Given the description of an element on the screen output the (x, y) to click on. 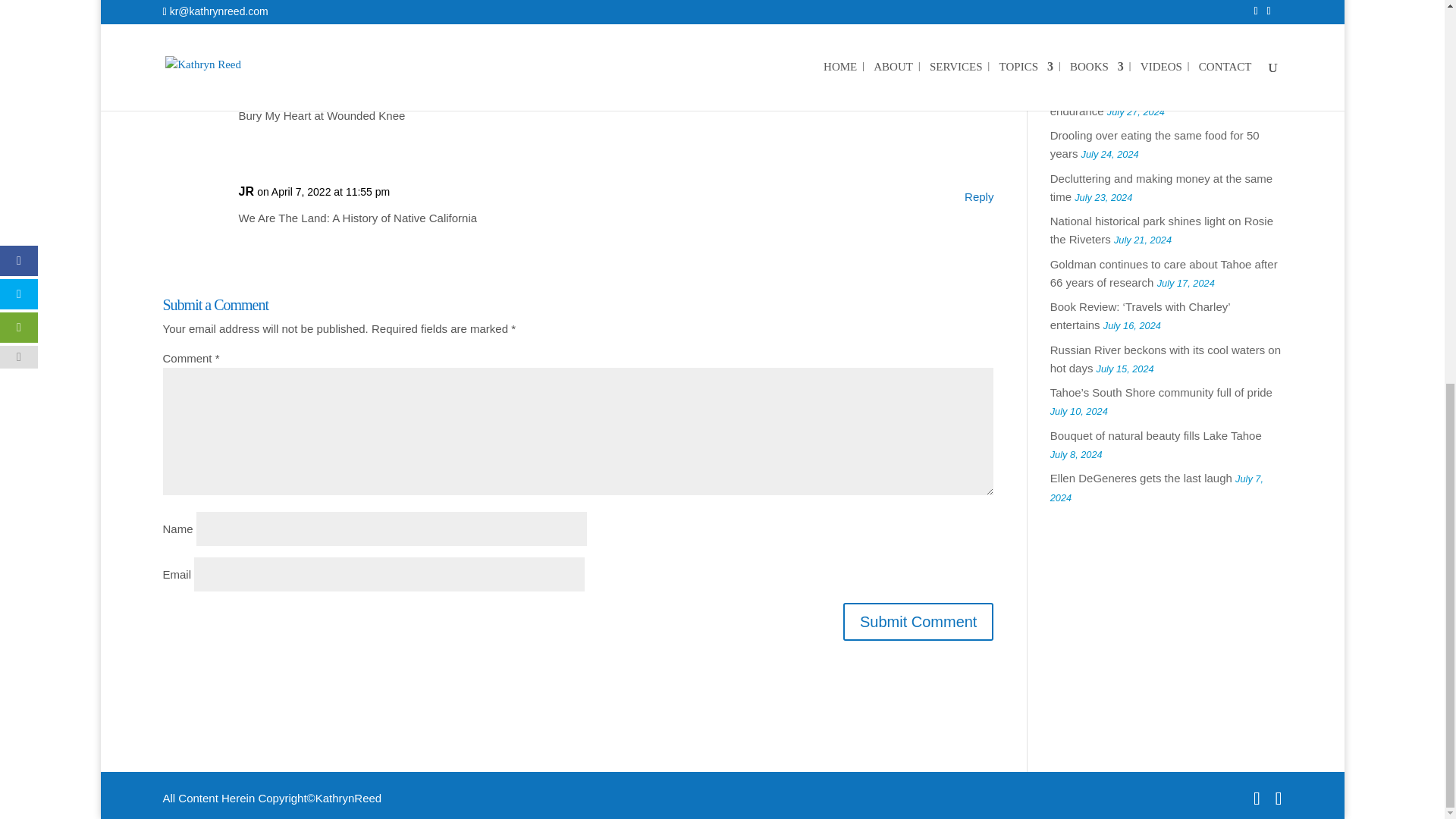
Submit Comment (918, 621)
Reply (977, 197)
Reply (977, 94)
Reply (977, 1)
Submit Comment (918, 621)
